Given the description of an element on the screen output the (x, y) to click on. 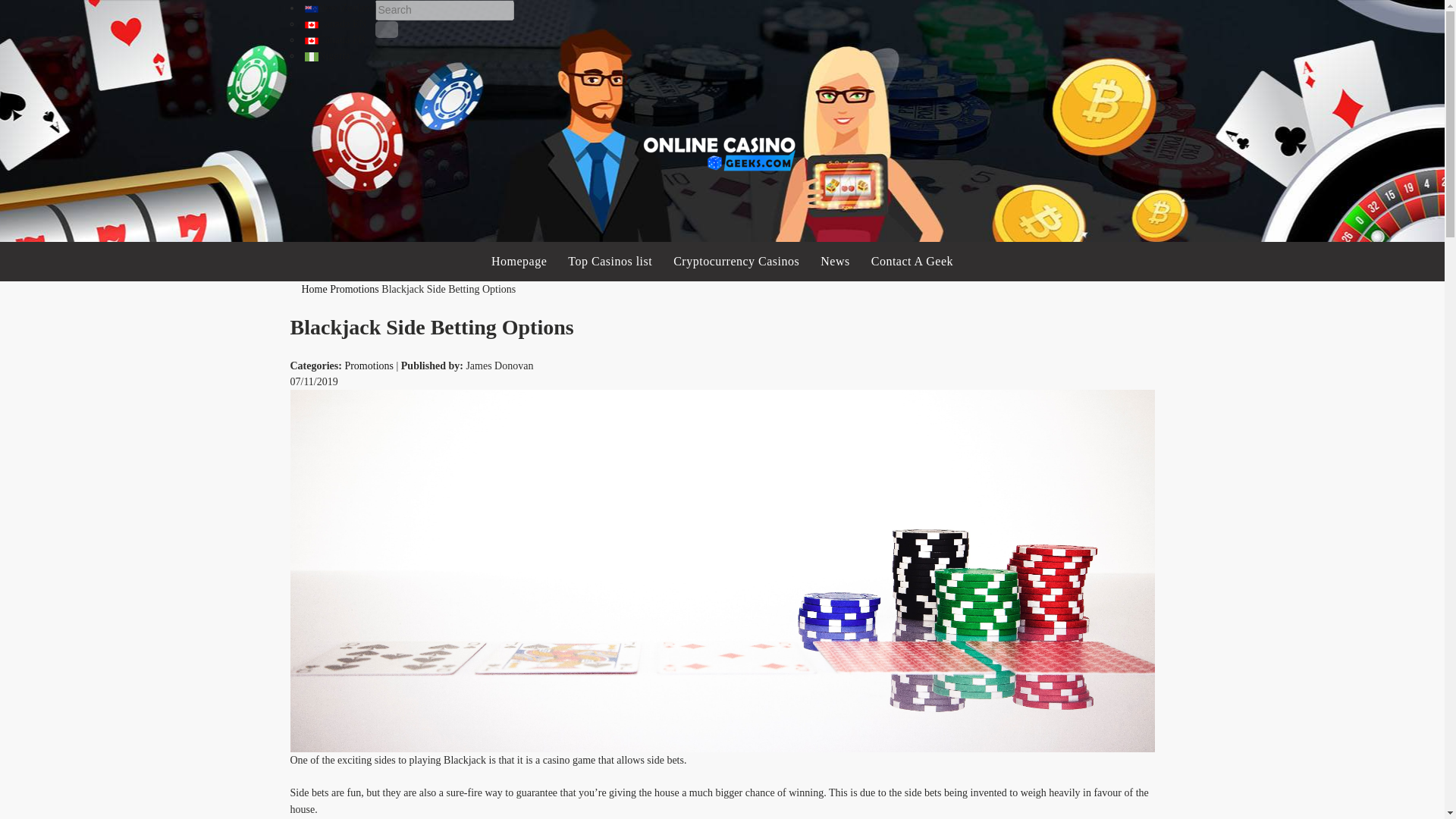
Nigeria (327, 55)
New Zealand (339, 7)
Promotions (368, 365)
Blackjack Side Betting Options (448, 288)
Cryptocurrency Casinos (735, 261)
Canada EN (335, 23)
Promotions (354, 288)
Promotions (354, 288)
Canada FR (335, 39)
Contact A Geek (911, 261)
